Given the description of an element on the screen output the (x, y) to click on. 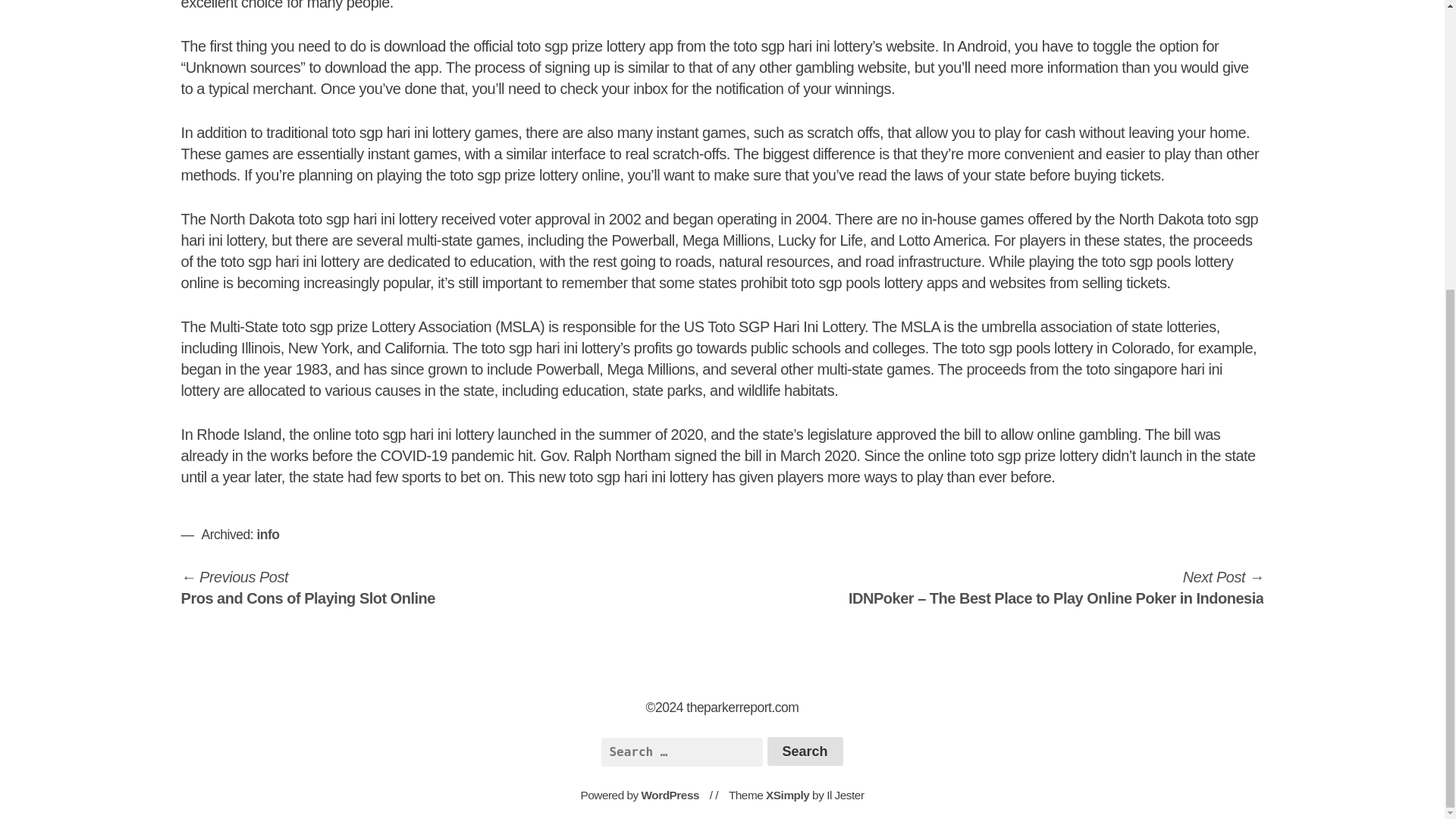
XSimply (787, 794)
Search (805, 751)
WordPress (670, 794)
Search (805, 751)
Search (805, 751)
info (267, 534)
